Given the description of an element on the screen output the (x, y) to click on. 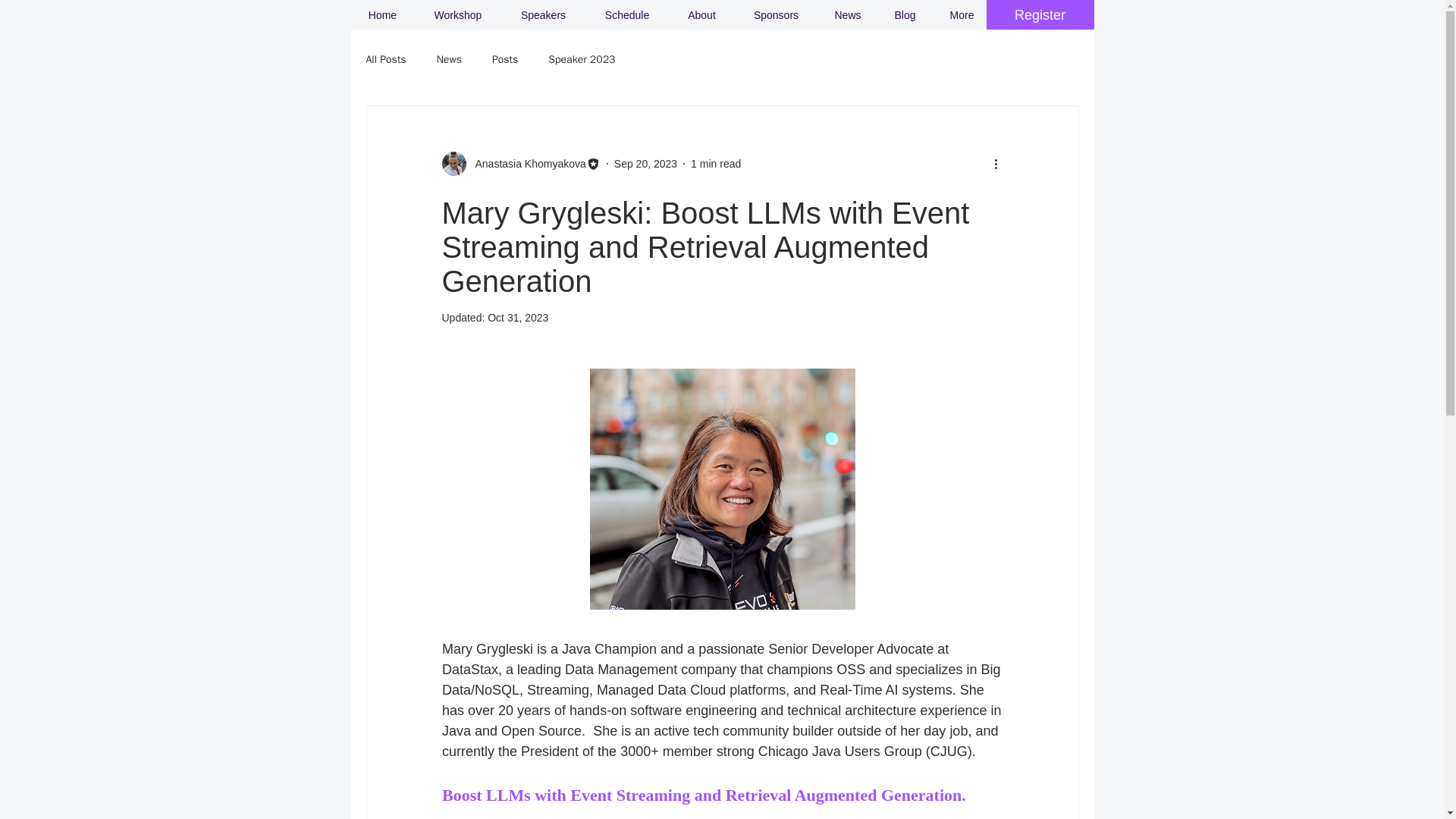
Sponsors (774, 15)
News (846, 15)
Anastasia Khomyakova (520, 163)
Sep 20, 2023 (645, 163)
About (700, 15)
1 min read (715, 163)
Schedule (627, 15)
Posts (505, 59)
Speakers (543, 15)
All Posts (385, 59)
Workshop (456, 15)
Oct 31, 2023 (517, 317)
Speaker 2023 (581, 59)
Anastasia Khomyakova (525, 163)
Register (1039, 15)
